Given the description of an element on the screen output the (x, y) to click on. 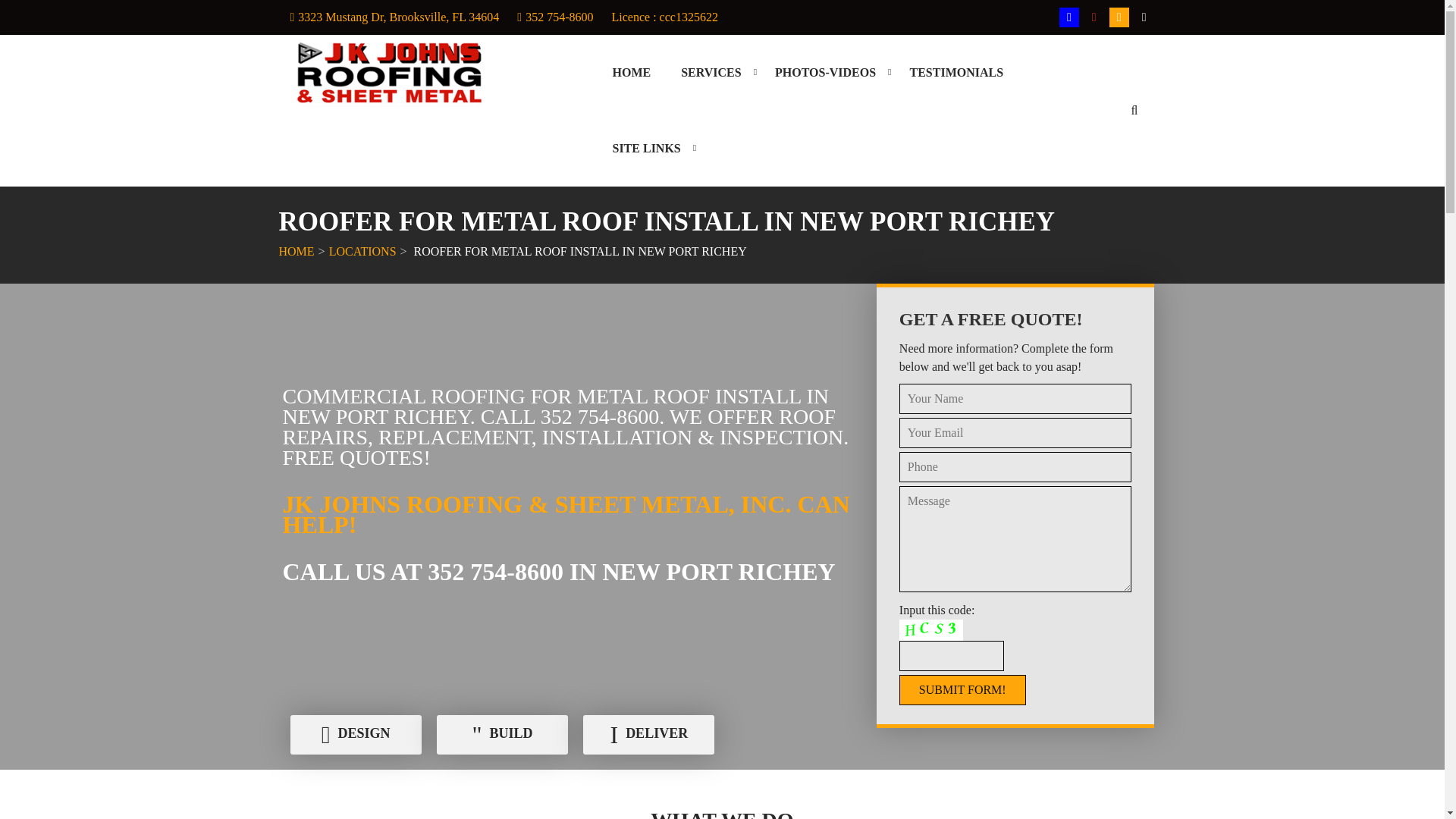
HOME (630, 72)
Home (630, 72)
SERVICES (710, 72)
HOME (296, 250)
SUBMIT FORM! (962, 689)
PHOTOS-VIDEOS (825, 72)
TESTIMONIALS (955, 72)
352 754-8600 (558, 16)
Photos-Videos (825, 72)
LOCATIONS (362, 250)
